Given the description of an element on the screen output the (x, y) to click on. 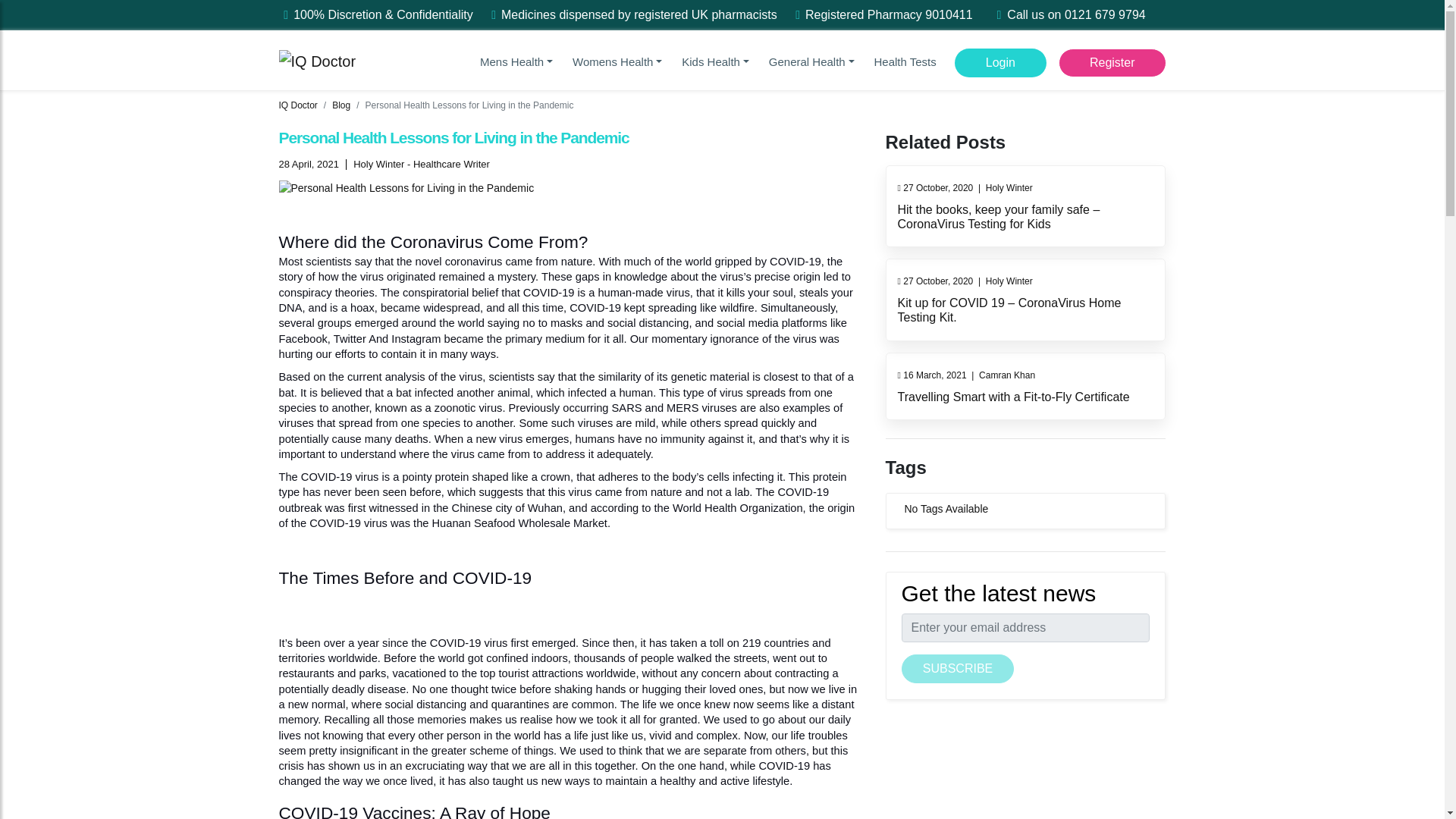
Mens Health (516, 61)
Kids Health (715, 61)
General Health (516, 61)
Womens Health (617, 61)
Registered Pharmacy (888, 14)
IQ Doctor (317, 60)
SUBSCRIBE (957, 668)
IQ Doctor (317, 58)
Registered Pharmacy 9010411 (888, 14)
